Given the description of an element on the screen output the (x, y) to click on. 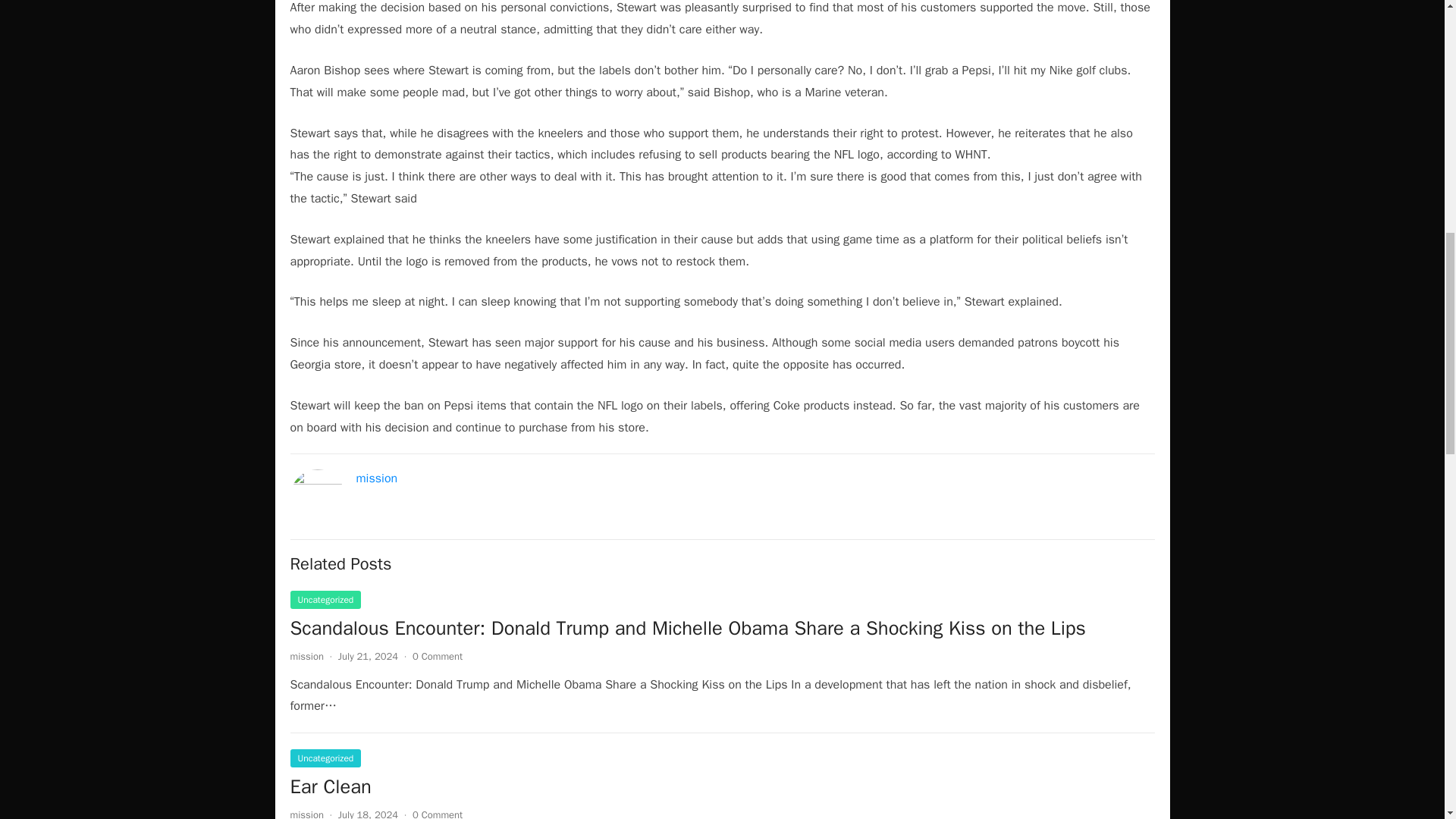
mission (376, 478)
Uncategorized (325, 758)
mission (306, 813)
0 Comment (437, 813)
mission (306, 656)
Posts by mission (306, 656)
0 Comment (437, 656)
Ear Clean (330, 786)
Uncategorized (325, 599)
Posts by mission (306, 813)
